Given the description of an element on the screen output the (x, y) to click on. 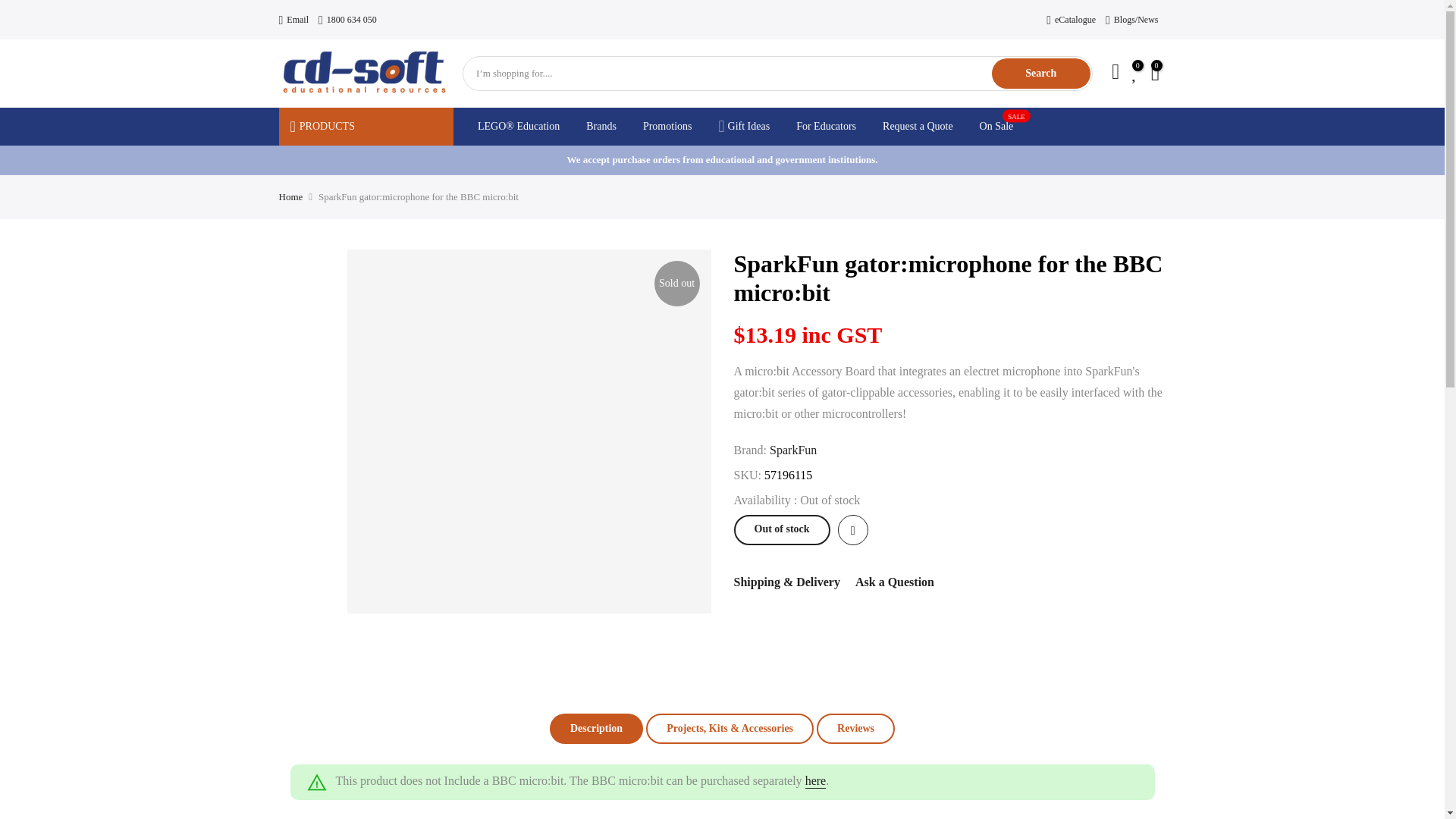
1800 634 050 (347, 19)
eCatalogue (1071, 19)
here (816, 780)
Home (290, 196)
Brands (601, 126)
Promotions (996, 126)
Request a Quote (666, 126)
For Educators (917, 126)
Reviews (826, 126)
Out of stock (855, 728)
Gift Ideas (781, 530)
Email (743, 126)
SparkFun (293, 19)
Ask a Question (793, 450)
